Given the description of an element on the screen output the (x, y) to click on. 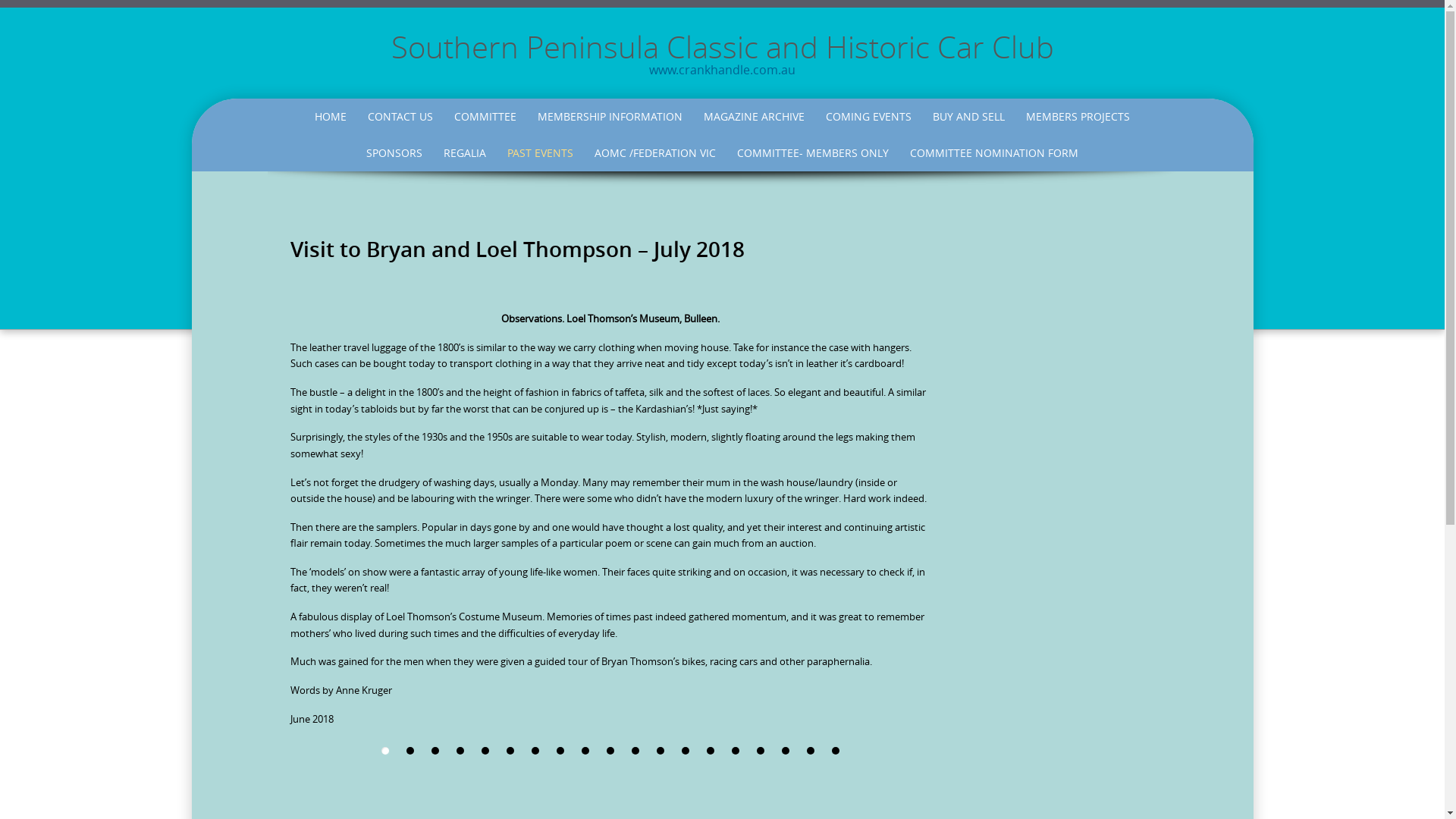
MEMBERSHIP INFORMATION Element type: text (609, 116)
HOME Element type: text (330, 116)
AOMC /FEDERATION VIC Element type: text (654, 152)
COMMITTEE NOMINATION FORM Element type: text (993, 152)
BUY AND SELL Element type: text (968, 116)
CONTACT US Element type: text (400, 116)
Southern Peninsula Classic and Historic Car Club Element type: text (722, 46)
SKIP TO CONTENT Element type: text (293, 101)
COMMITTEE- MEMBERS ONLY Element type: text (812, 152)
MAGAZINE ARCHIVE Element type: text (753, 116)
SPONSORS Element type: text (394, 152)
PAST EVENTS Element type: text (540, 152)
REGALIA Element type: text (464, 152)
COMMITTEE Element type: text (485, 116)
COMING EVENTS Element type: text (868, 116)
MEMBERS PROJECTS Element type: text (1077, 116)
